Given the description of an element on the screen output the (x, y) to click on. 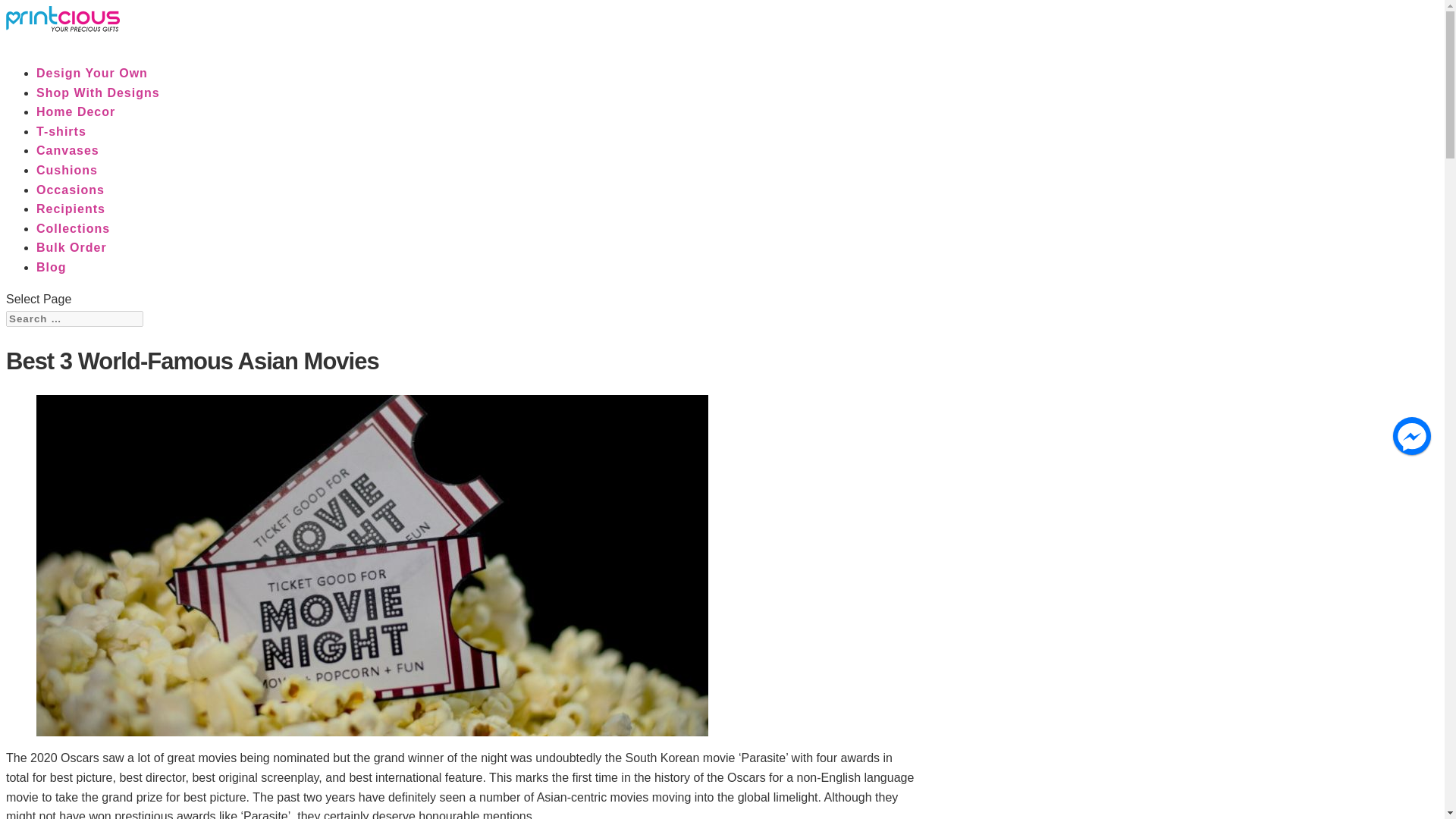
Occasions (70, 193)
Recipients (70, 212)
Canvases (67, 154)
Bulk Order (71, 251)
Collections (73, 232)
Home Decor (75, 115)
Search for: (73, 318)
Cushions (66, 174)
Blog (51, 271)
Design Your Own (92, 76)
T-shirts (60, 135)
Shop With Designs (98, 96)
